Given the description of an element on the screen output the (x, y) to click on. 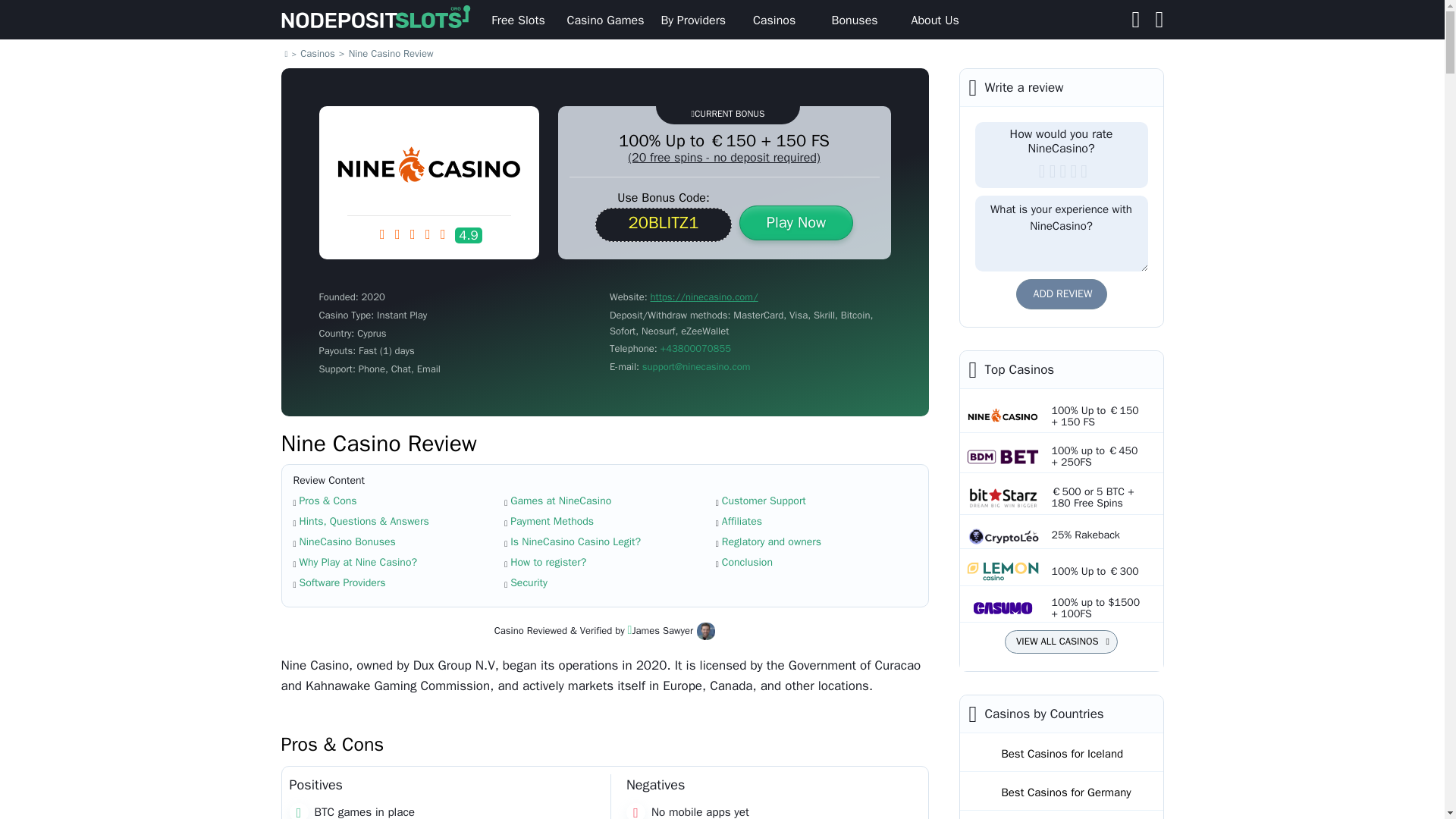
Casinos (774, 20)
NoDepositSlots.org (379, 20)
Casino Games (605, 20)
Free Slots (518, 20)
Casino Games (605, 20)
Free Slots (518, 20)
By Providers (692, 20)
By Providers (692, 20)
